Given the description of an element on the screen output the (x, y) to click on. 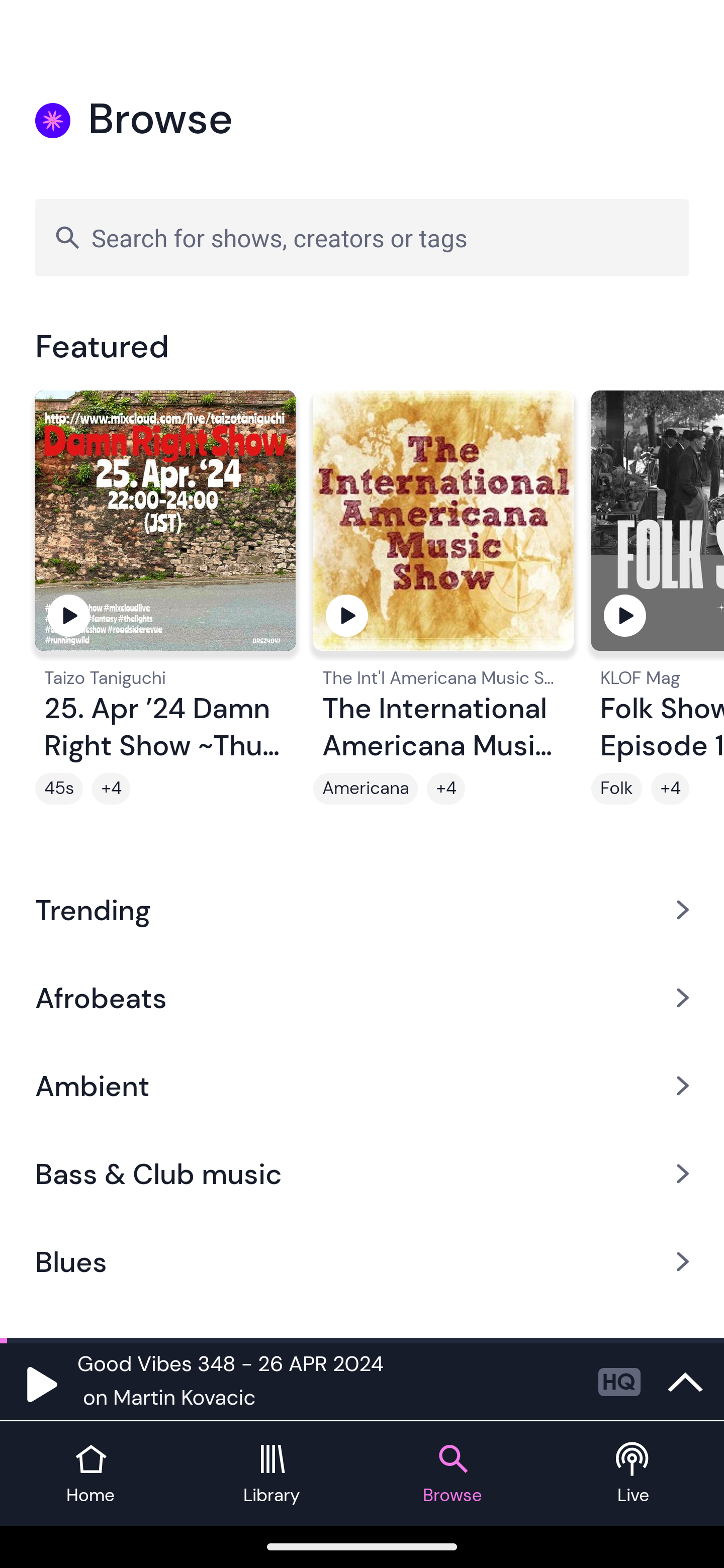
Search for shows, creators or tags (361, 237)
45s (59, 788)
Americana (365, 788)
Folk (616, 788)
Trending (361, 909)
Afrobeats (361, 997)
Ambient (361, 1085)
Bass & Club music (361, 1174)
Blues (361, 1262)
Home tab Home (90, 1473)
Library tab Library (271, 1473)
Browse tab Browse (452, 1473)
Live tab Live (633, 1473)
